Given the description of an element on the screen output the (x, y) to click on. 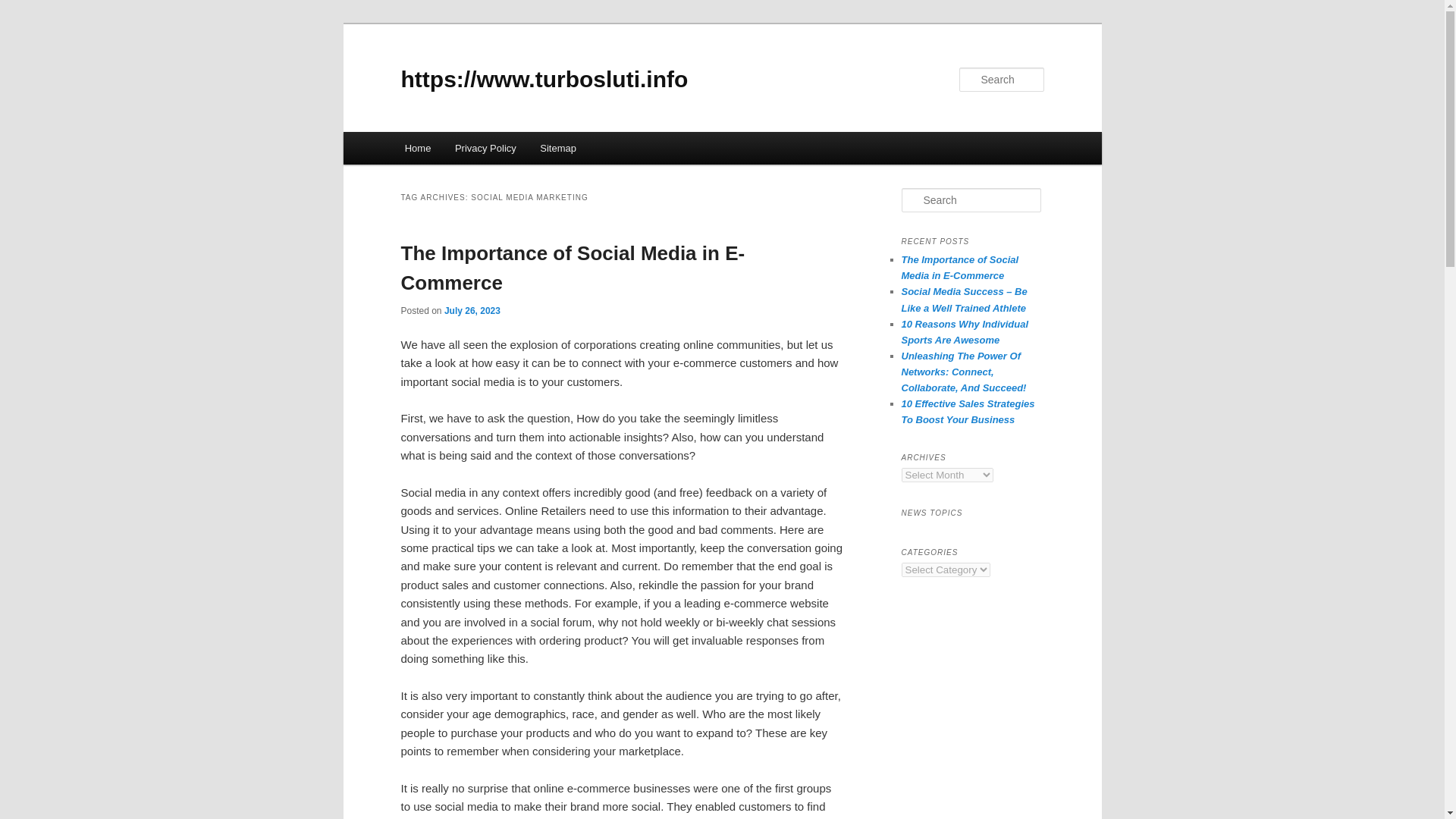
July 26, 2023 (472, 310)
The Importance of Social Media in E-Commerce (572, 267)
Search (21, 11)
10 Effective Sales Strategies To Boost Your Business (967, 411)
The Importance of Social Media in E-Commerce (959, 267)
10 Reasons Why Individual Sports Are Awesome (964, 331)
Search (24, 8)
7:35 pm (472, 310)
Home (417, 147)
Privacy Policy (484, 147)
Sitemap (558, 147)
